Given the description of an element on the screen output the (x, y) to click on. 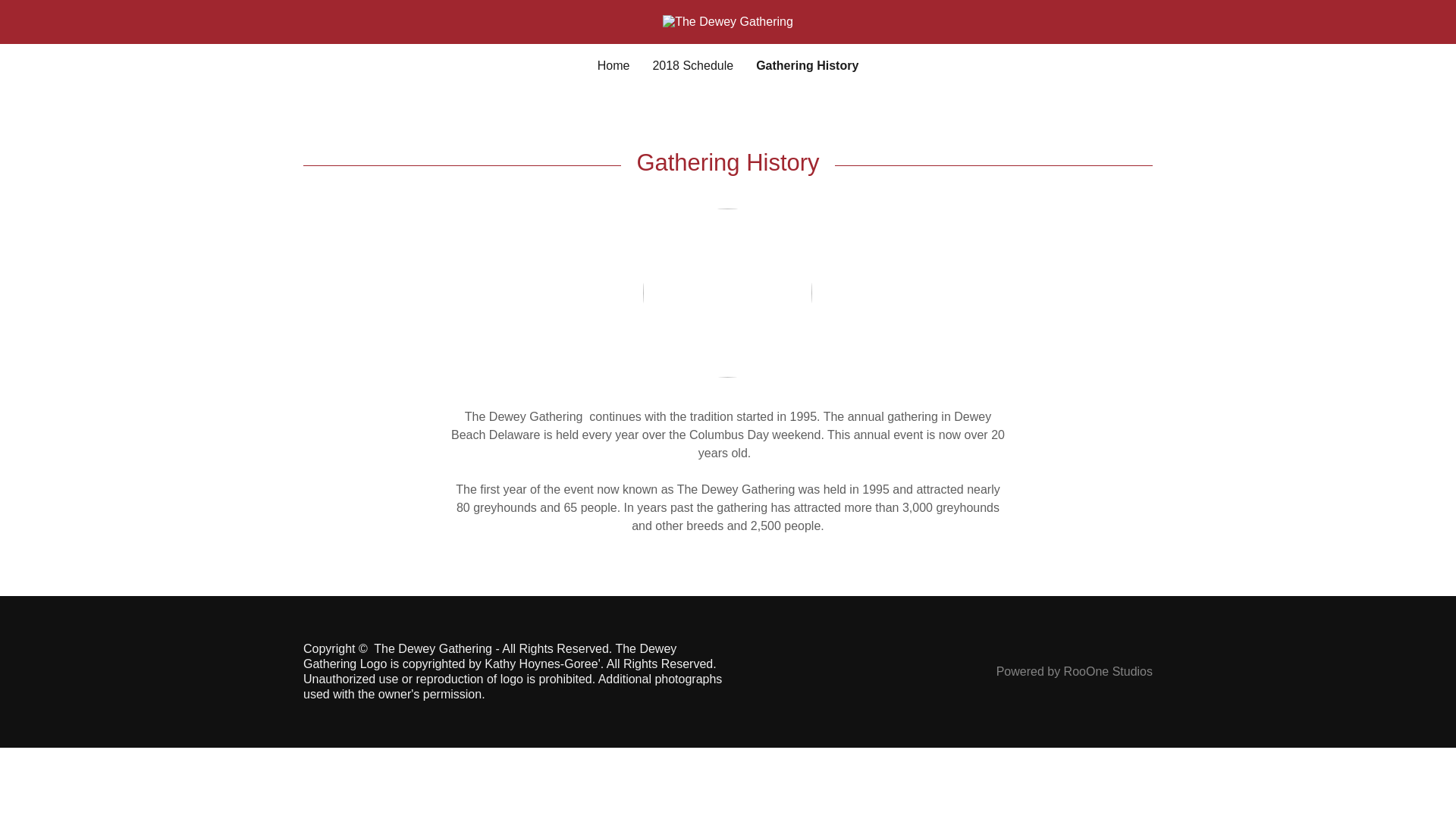
2018 Schedule (692, 65)
Home (613, 65)
Gathering History (807, 65)
The Dewey Gathering (727, 20)
